Given the description of an element on the screen output the (x, y) to click on. 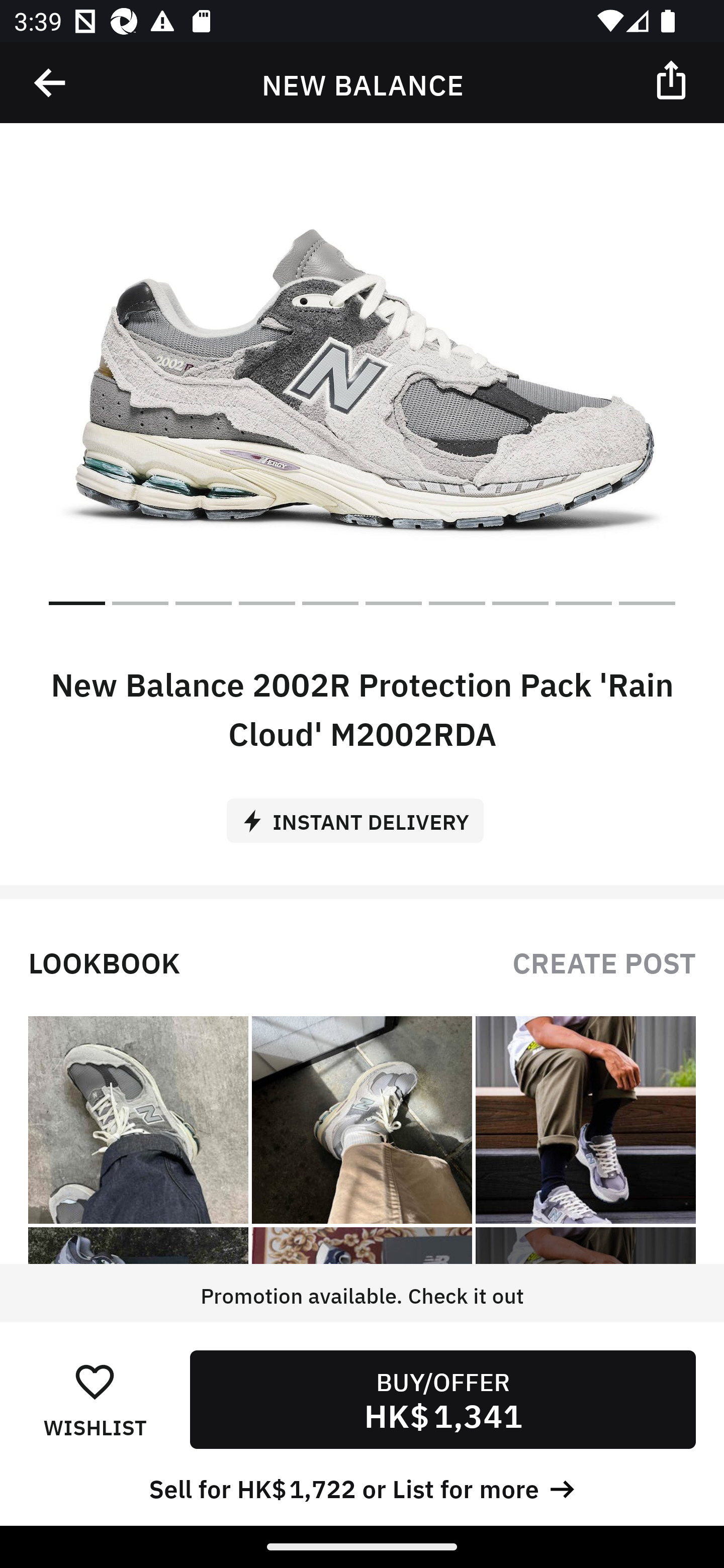
 (50, 83)
 (672, 79)
 INSTANT DELIVERY (362, 813)
CREATE POST (603, 960)
BUY/OFFER HK$ 1,341 (442, 1399)
󰋕 (94, 1380)
Sell for HK$ 1,722 or List for more (361, 1486)
